Given the description of an element on the screen output the (x, y) to click on. 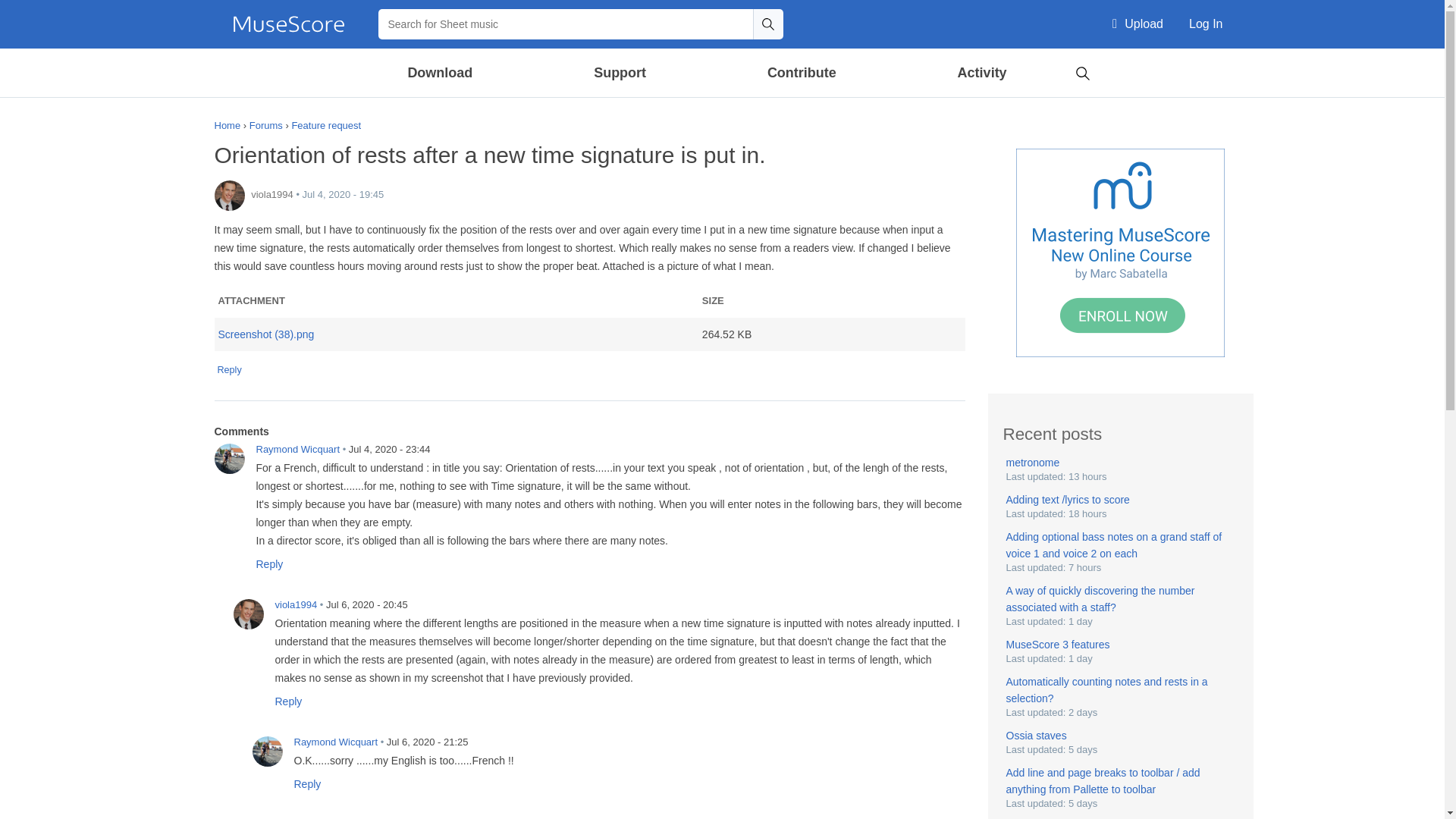
Search (767, 24)
Support (619, 72)
Home (287, 23)
Raymond Wicquart (229, 458)
Search (1082, 71)
Contribute (801, 72)
viola1994 (229, 195)
Log In (1205, 24)
Download (440, 72)
